Given the description of an element on the screen output the (x, y) to click on. 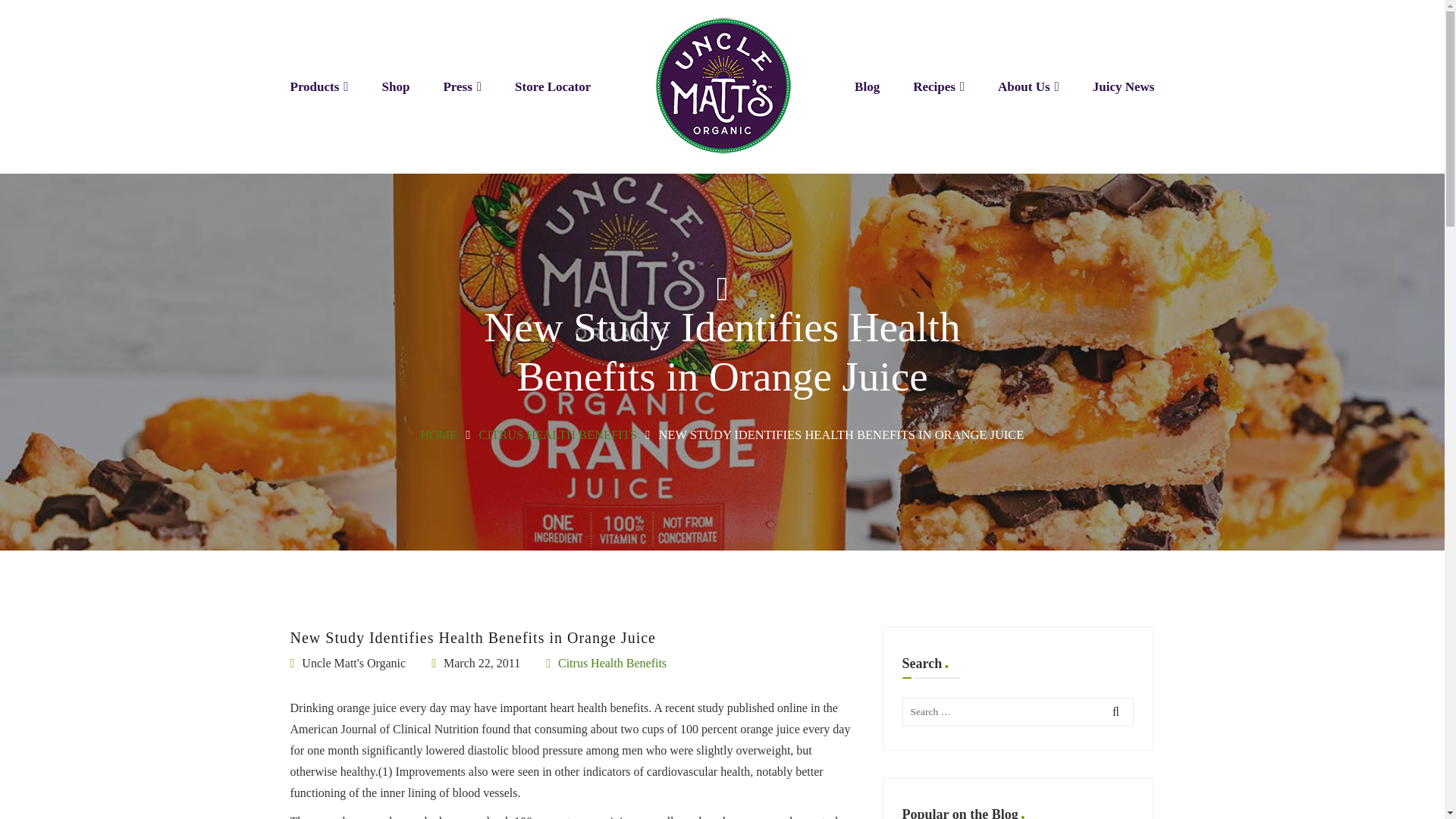
Post in category (606, 663)
Blog (866, 86)
Recipes (937, 86)
Products (318, 86)
About Us (1028, 86)
Post by (347, 663)
CITRUS HEALTH BENEFITS (558, 434)
Press (461, 86)
Recipes (937, 86)
Post date (474, 663)
